Given the description of an element on the screen output the (x, y) to click on. 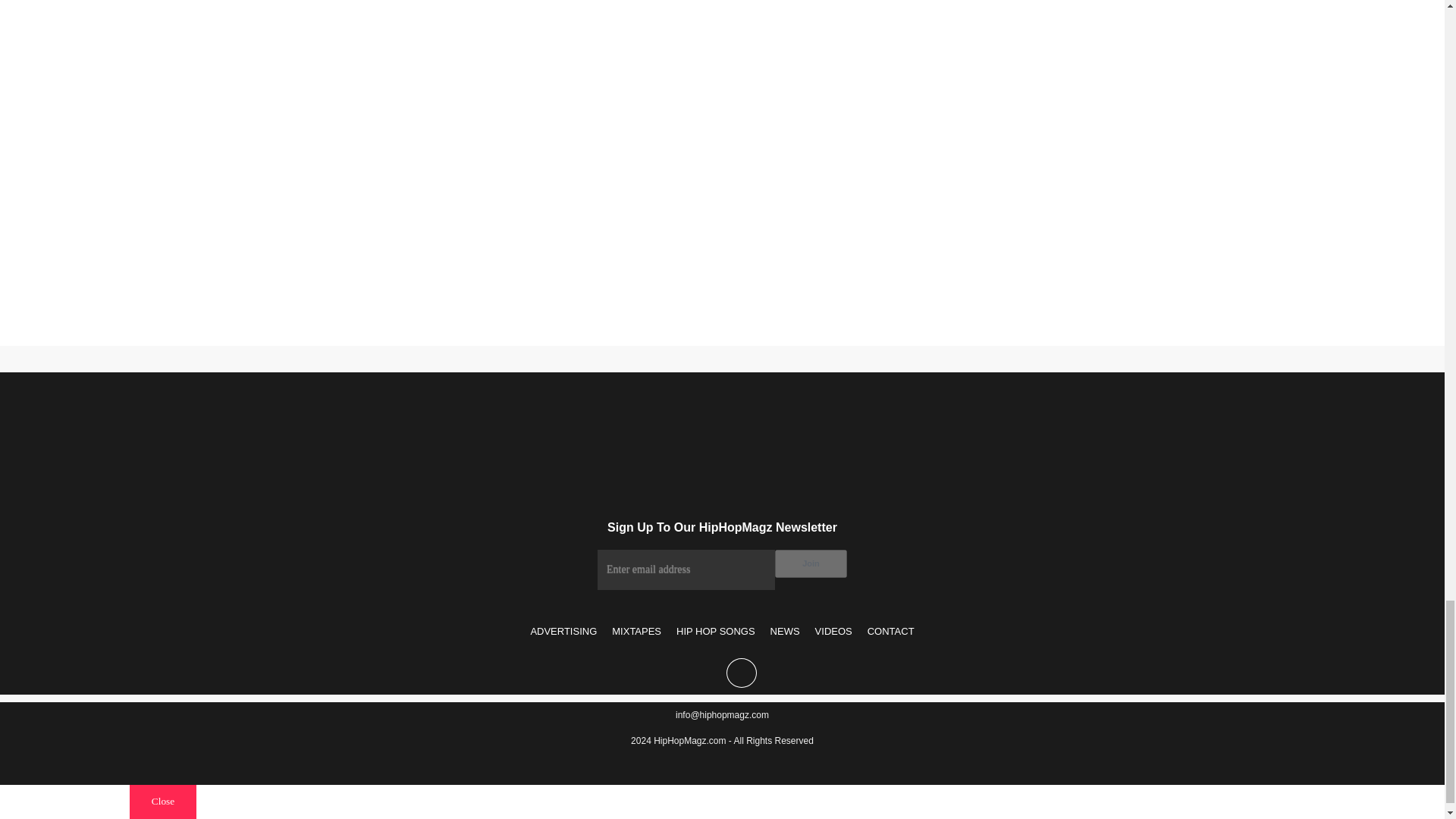
Join (810, 563)
MIXTAPES (636, 631)
VIDEOS (834, 631)
ADVERTISING (563, 631)
Join (810, 563)
NEWS (785, 631)
HIP HOP SONGS (715, 631)
